Given the description of an element on the screen output the (x, y) to click on. 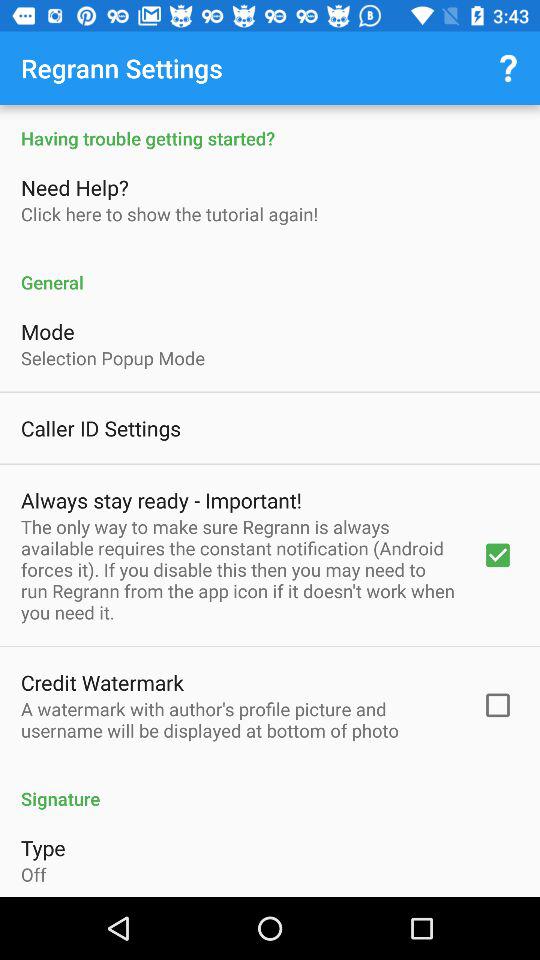
scroll to the general item (270, 271)
